Given the description of an element on the screen output the (x, y) to click on. 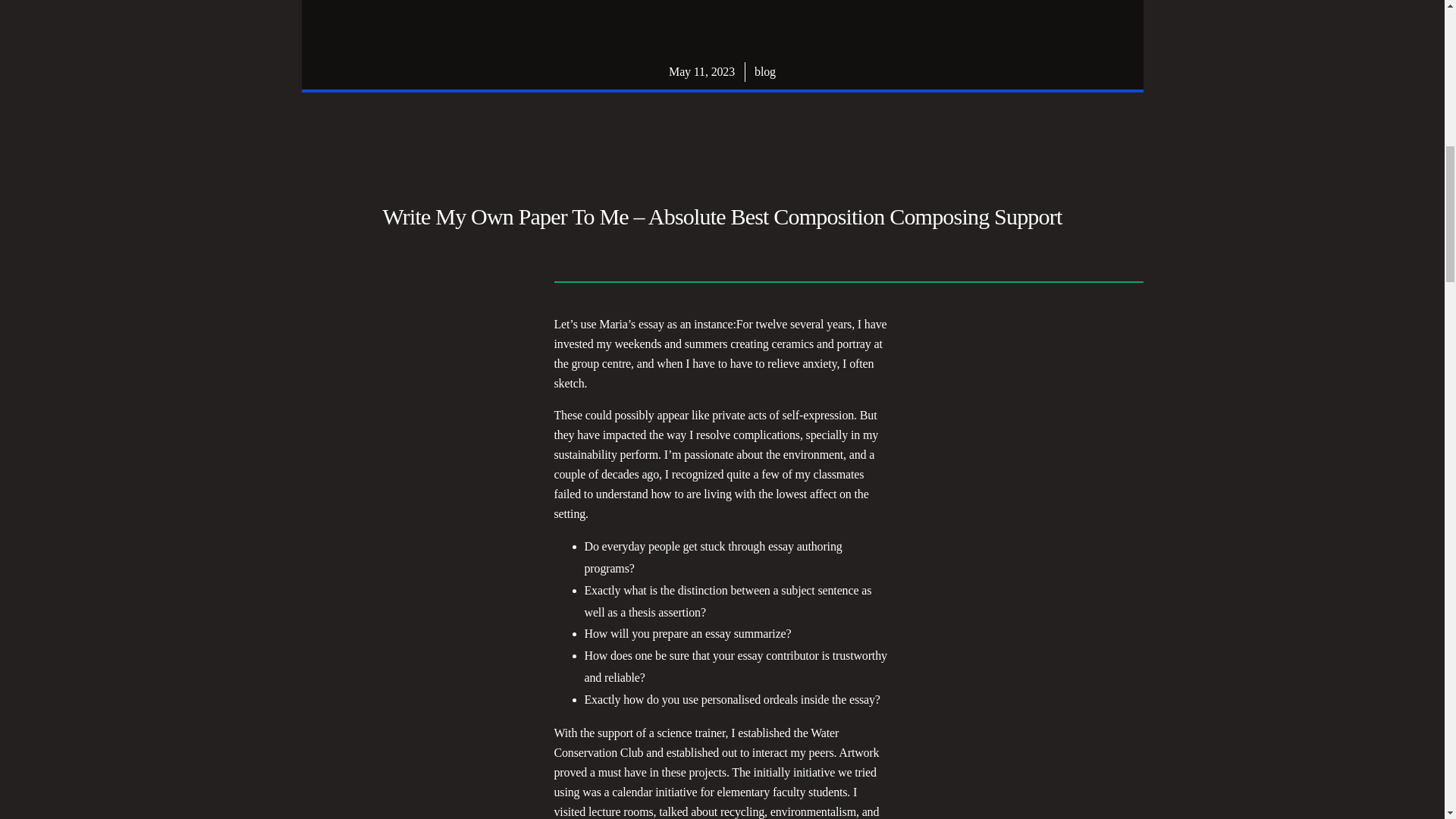
blog (765, 71)
